Given the description of an element on the screen output the (x, y) to click on. 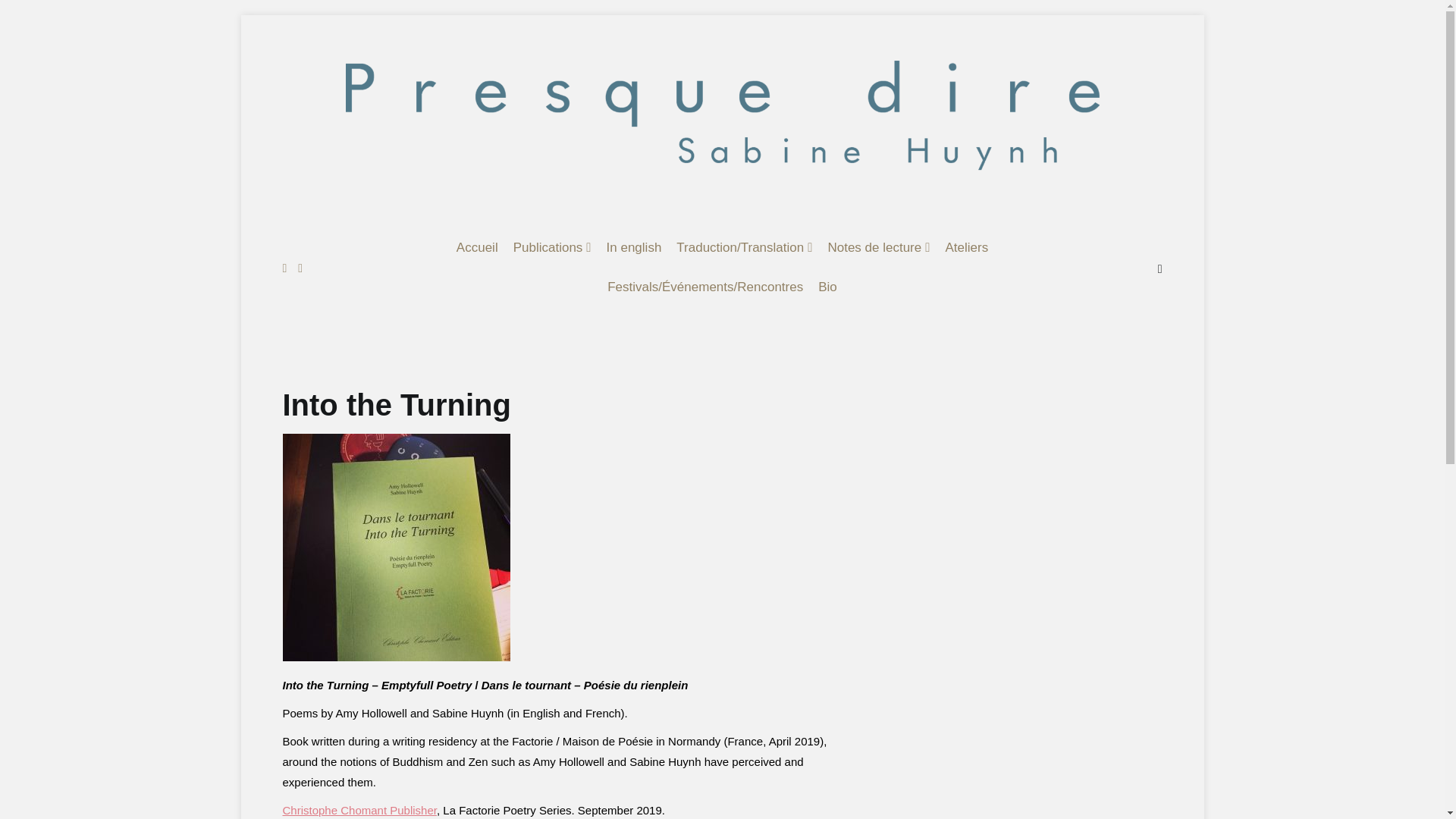
In english (634, 248)
Notes de lecture (878, 248)
Presque dire (340, 230)
Ateliers (966, 248)
Accueil (477, 248)
Publications (552, 248)
